Given the description of an element on the screen output the (x, y) to click on. 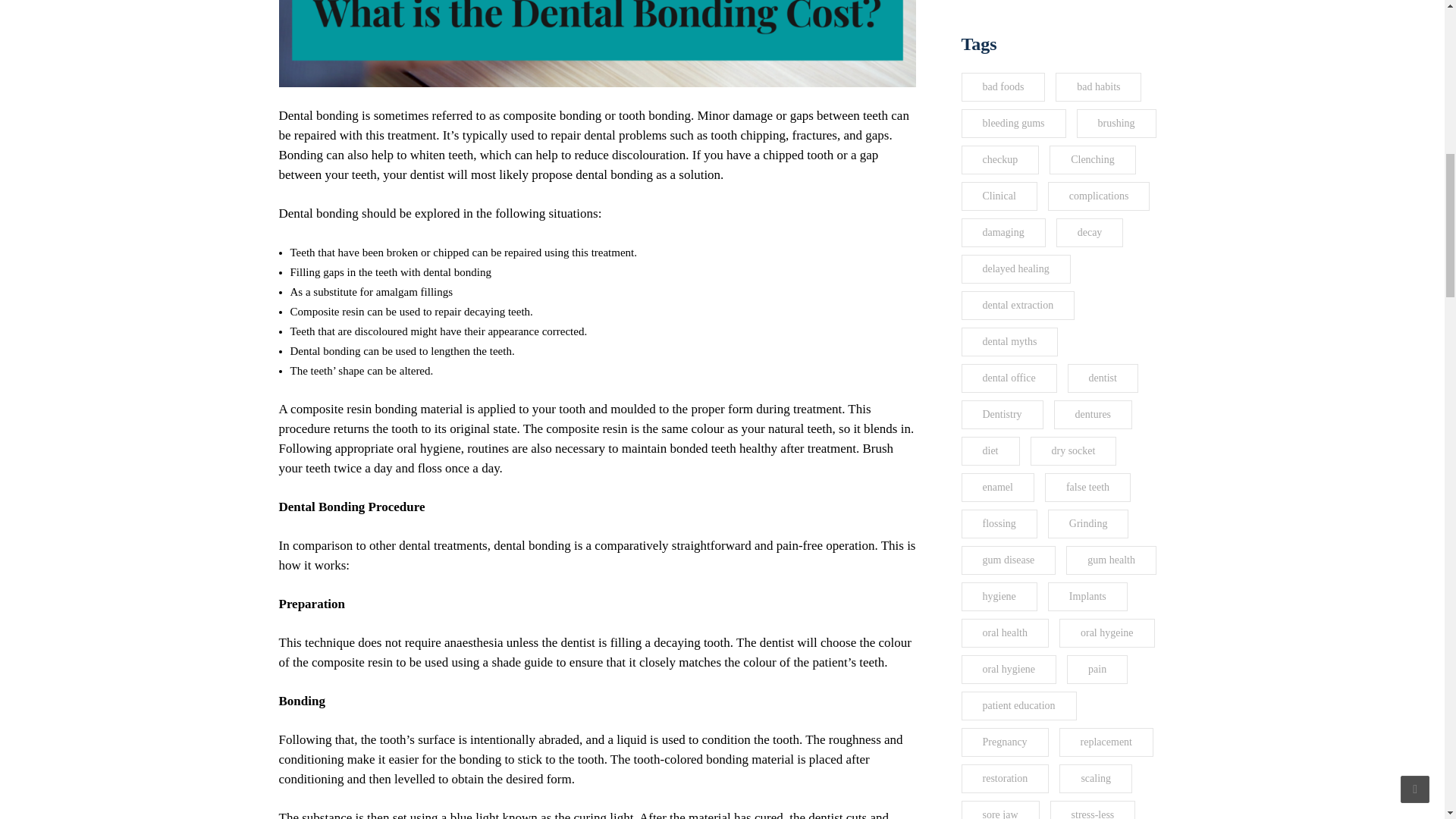
Clenching (1092, 159)
brushing (1116, 123)
Clinical (998, 195)
bad foods (1002, 86)
checkup (999, 159)
bad habits (1098, 86)
bleeding gums (1012, 123)
complications (1099, 195)
decay (1090, 232)
damaging (1002, 232)
